Given the description of an element on the screen output the (x, y) to click on. 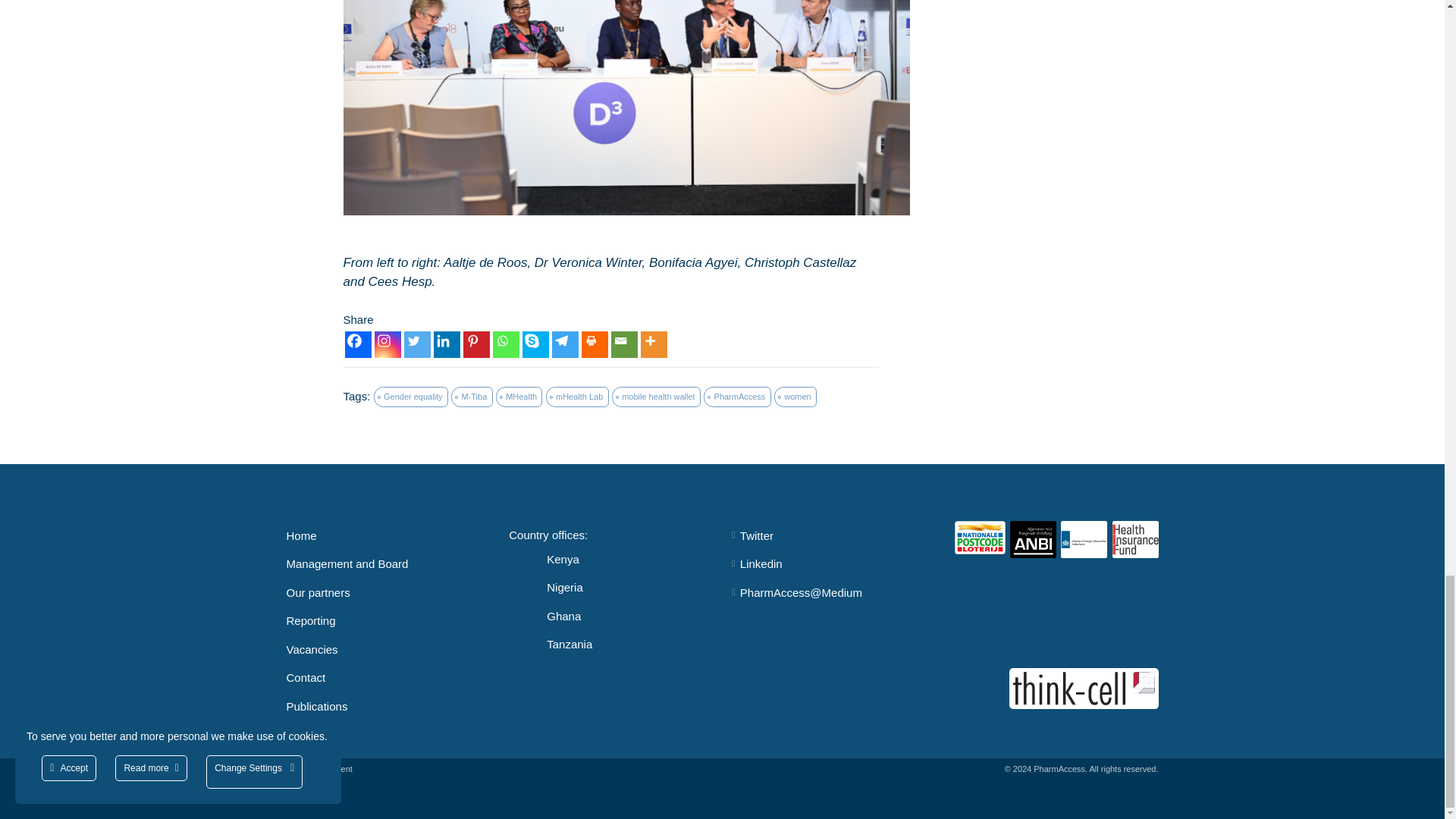
Instagram (387, 344)
Skype (534, 344)
Twitter (416, 344)
Telegram (564, 344)
More (653, 344)
Pinterest (476, 344)
Linkedin (446, 344)
Email (624, 344)
Whatsapp (506, 344)
Print (593, 344)
Facebook (357, 344)
